Given the description of an element on the screen output the (x, y) to click on. 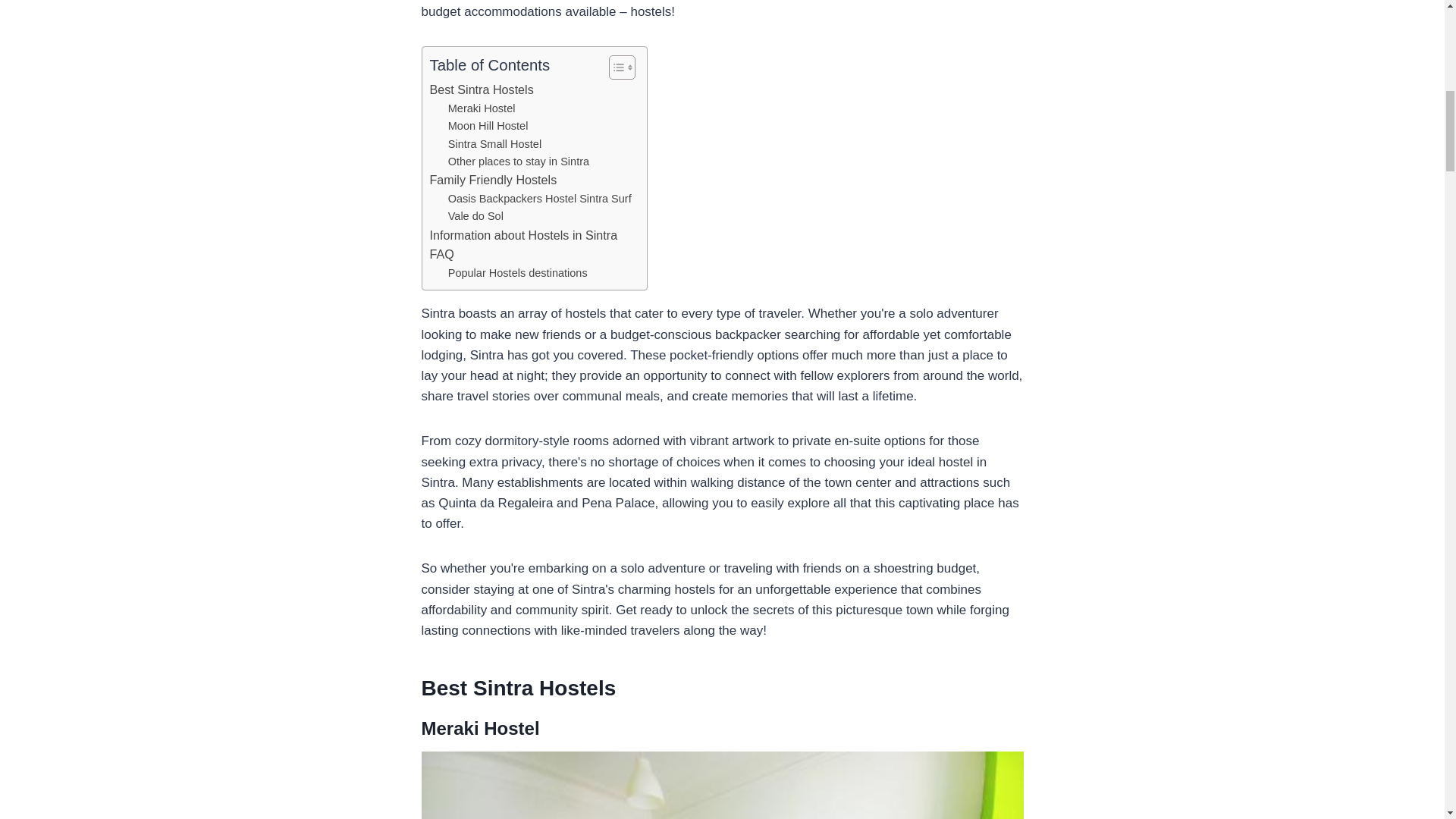
Oasis Backpackers Hostel Sintra Surf (539, 199)
Sintra Small Hostel (494, 144)
Best Sintra Hostels (480, 89)
Popular Hostels destinations (518, 272)
Information about Hostels in Sintra (523, 235)
FAQ (440, 254)
Moon Hill Hostel (488, 126)
Popular Hostels destinations (518, 272)
Best Sintra Hostels (480, 89)
FAQ (440, 254)
Meraki Hostel (481, 108)
Sintra Small Hostel (494, 144)
Family Friendly Hostels (492, 180)
Oasis Backpackers Hostel Sintra Surf (539, 199)
Meraki Hostel (481, 108)
